Given the description of an element on the screen output the (x, y) to click on. 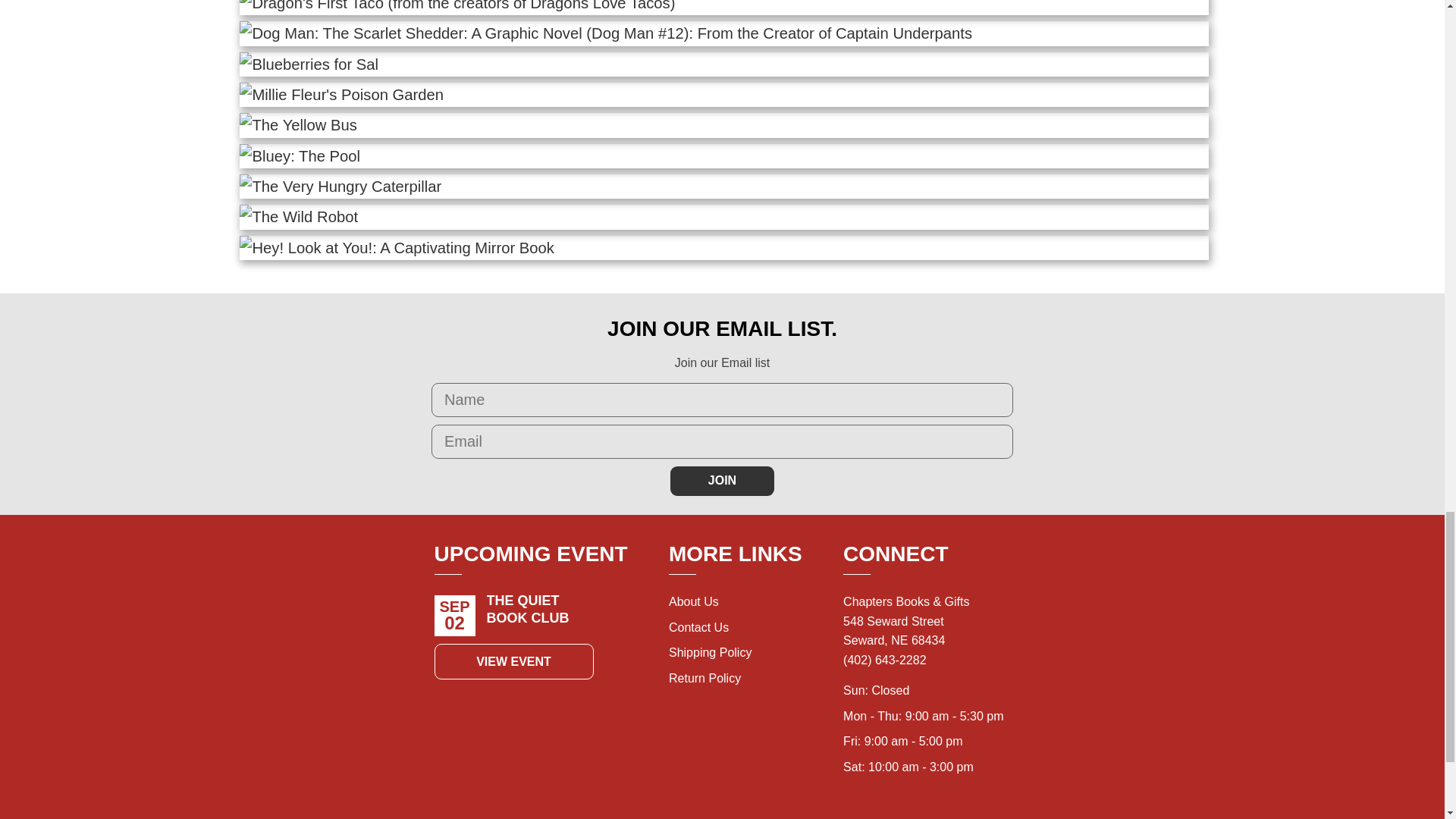
Connect with Facebook (885, 810)
Join (721, 480)
Connect with Instagram (852, 810)
Connect with Tik Tok (919, 810)
